Given the description of an element on the screen output the (x, y) to click on. 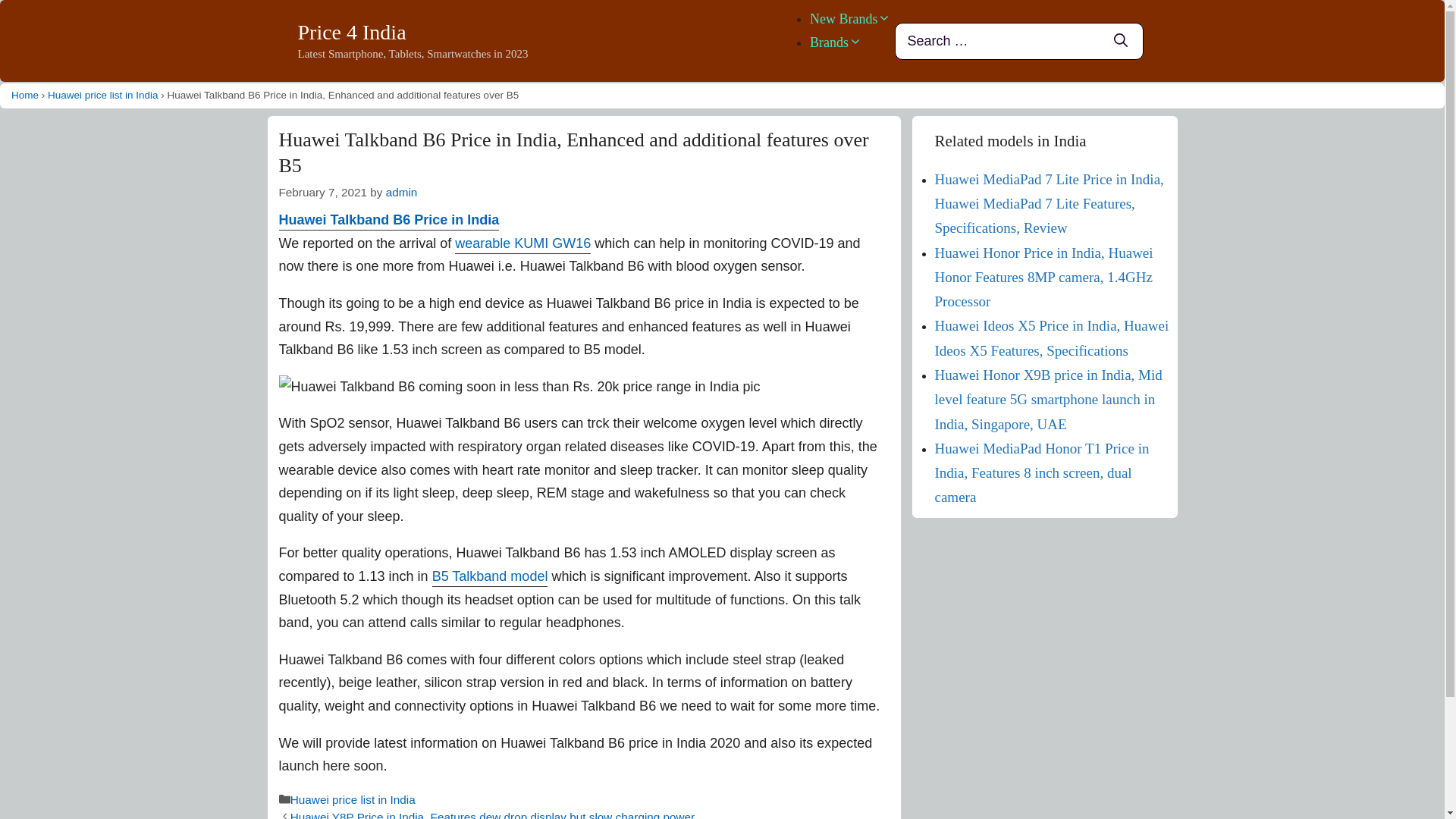
Price 4 India (351, 32)
Huawei price list in India (103, 94)
wearable KUMI GW16 (522, 244)
B5 Talkband model (490, 577)
Huawei Talkband B6 Price in India (389, 221)
Huawei Talkband B6 with additional features image (519, 386)
